Given the description of an element on the screen output the (x, y) to click on. 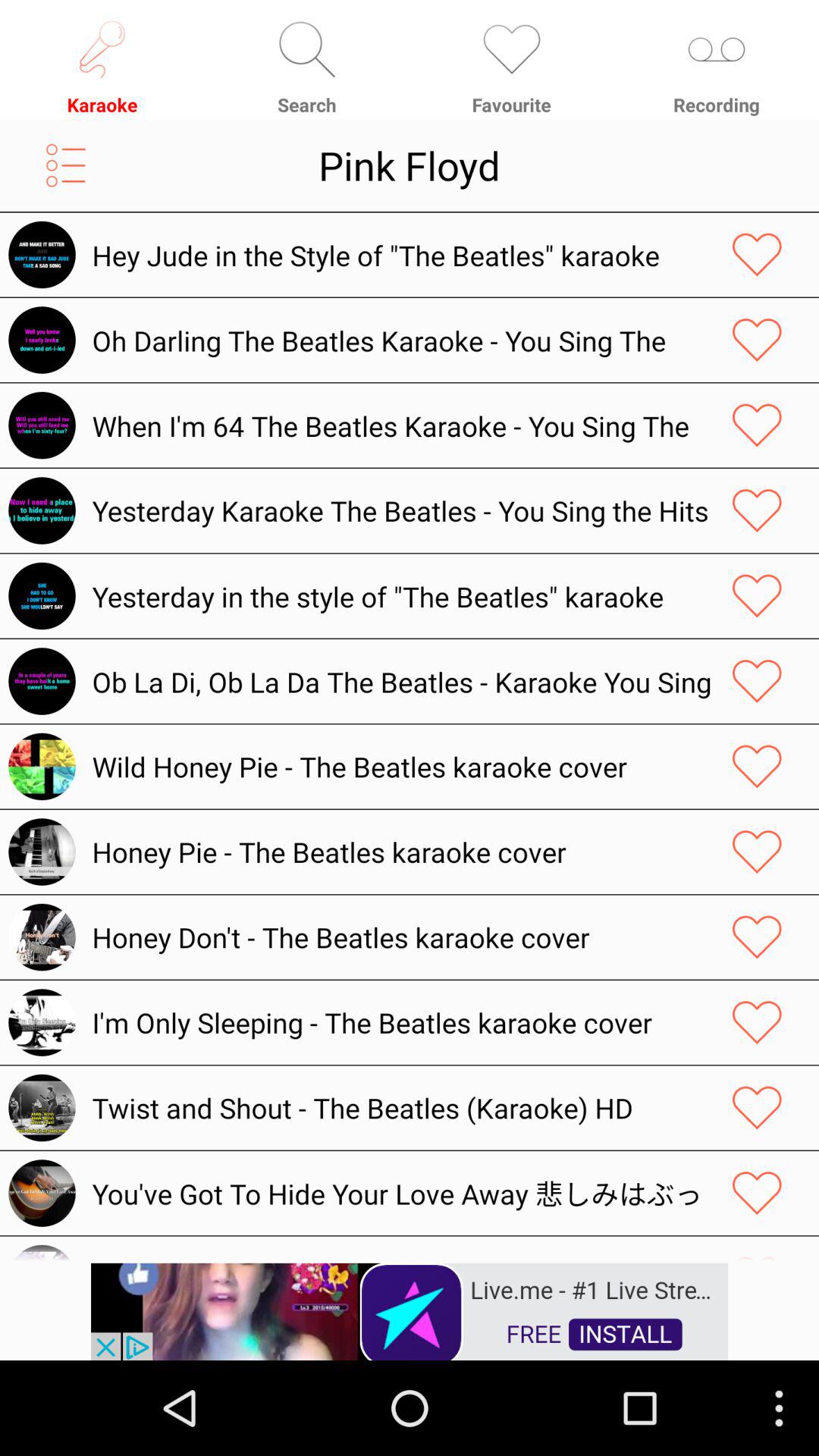
love track (756, 1193)
